Given the description of an element on the screen output the (x, y) to click on. 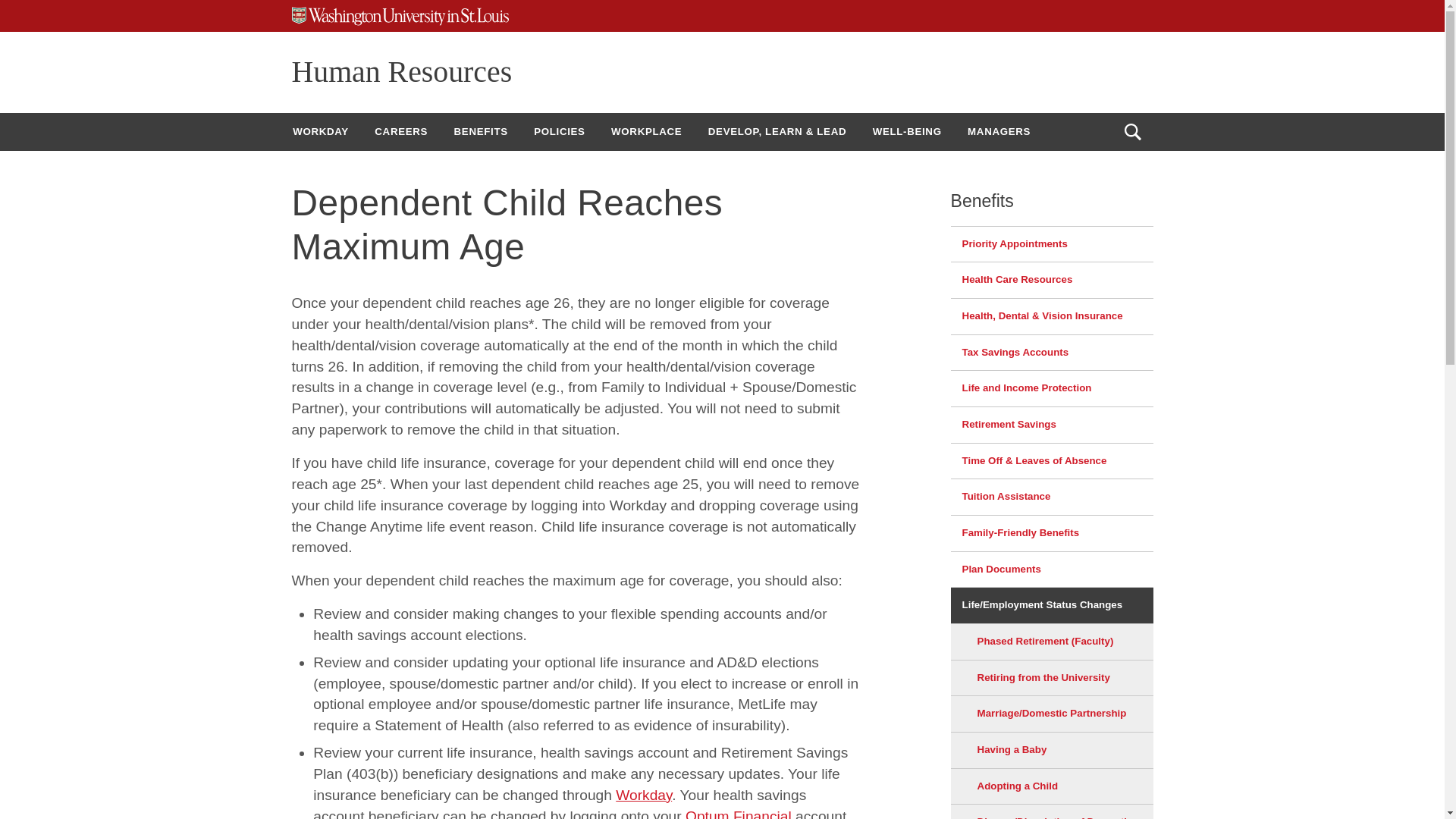
POLICIES (558, 131)
WORKPLACE (646, 131)
BENEFITS (480, 131)
Human Resources (401, 71)
WORKDAY (320, 131)
CAREERS (400, 131)
